Given the description of an element on the screen output the (x, y) to click on. 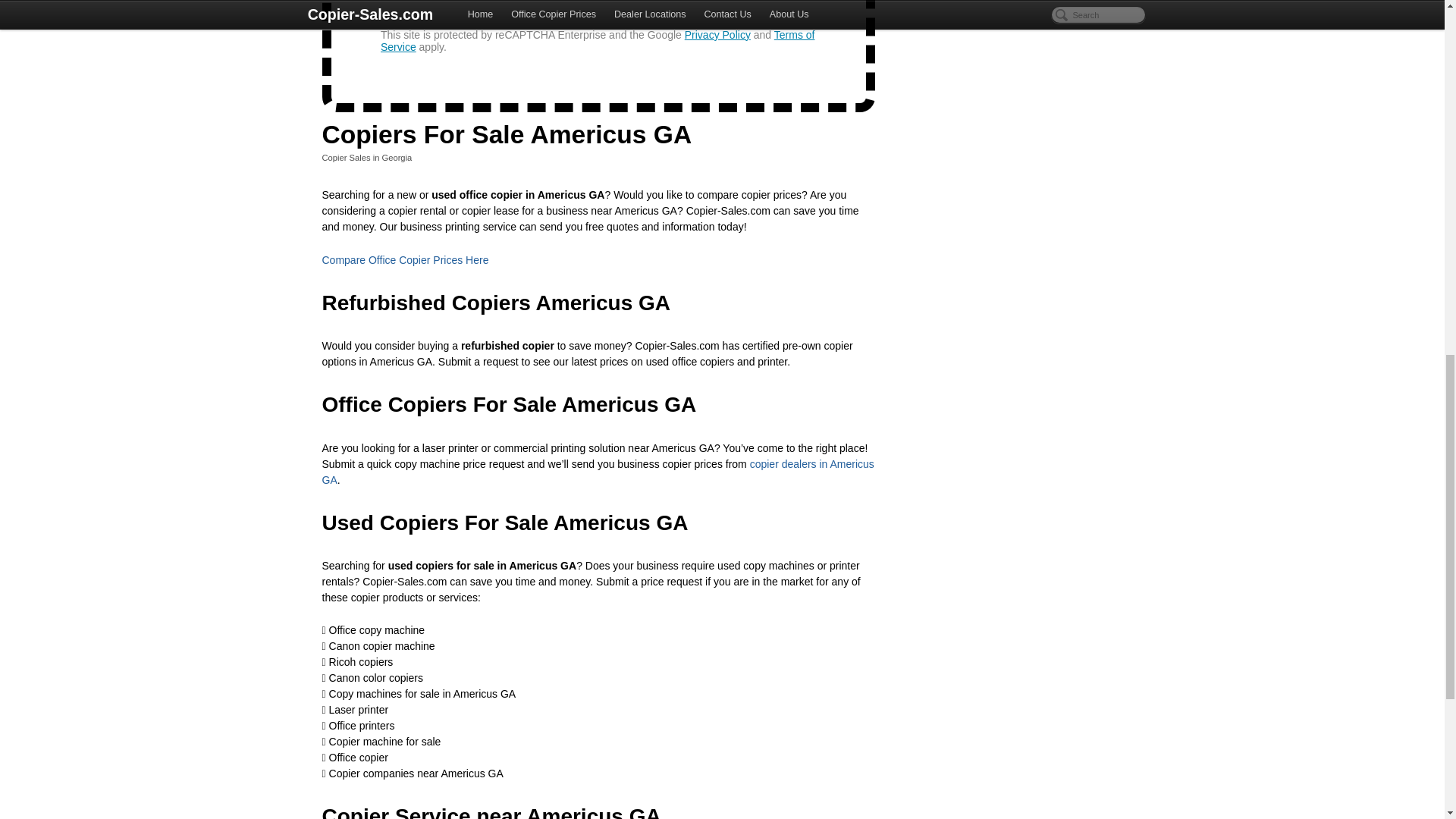
Georgia (396, 157)
Compare Office Copier Prices Here (404, 259)
Copier Sales (345, 157)
copier dealers in Americus GA (597, 471)
Embedded Wufoo Form (599, 49)
